Given the description of an element on the screen output the (x, y) to click on. 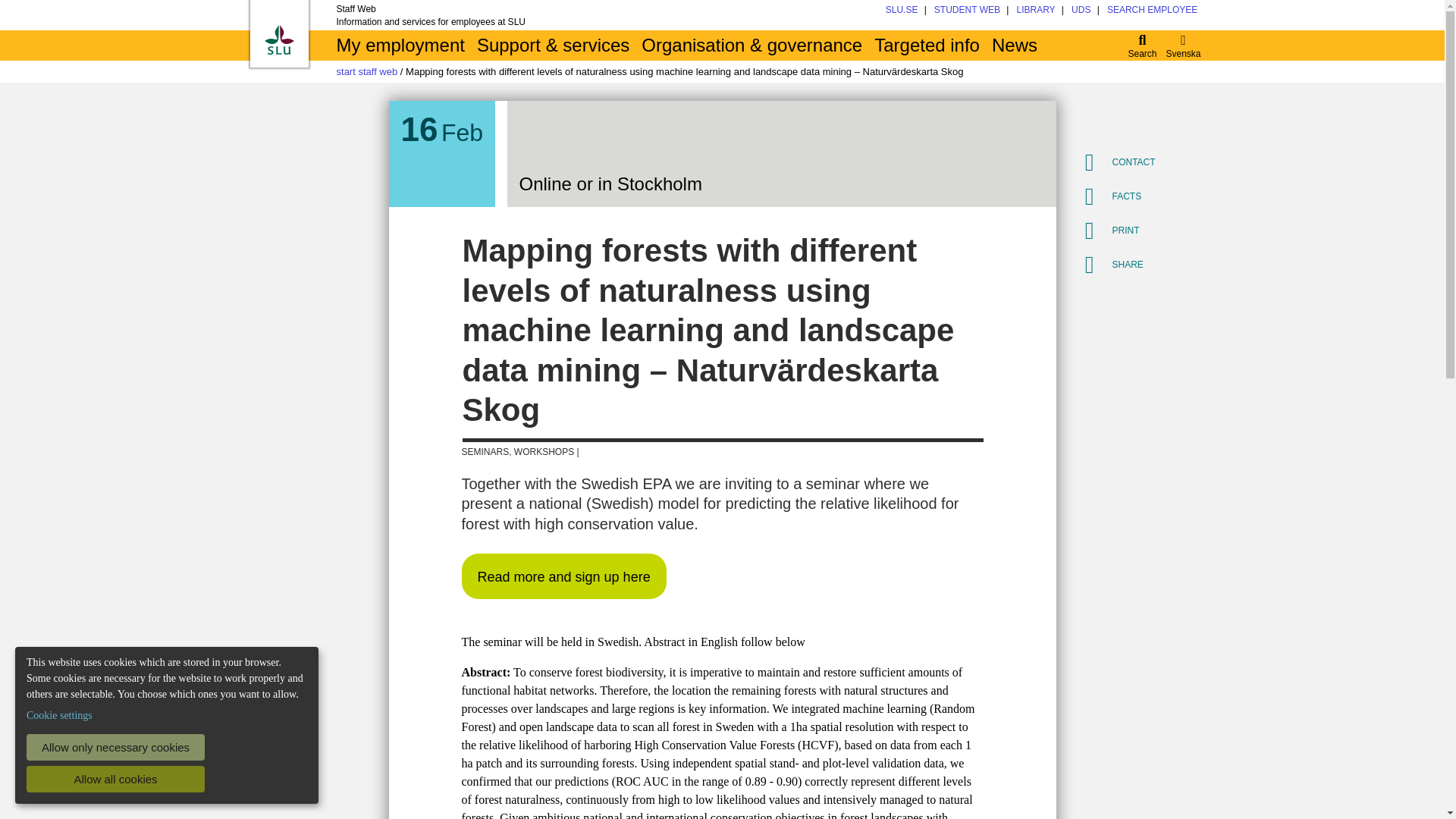
UDS (1080, 9)
Allow all cookies (115, 778)
Cookie settings (59, 715)
SEARCH EMPLOYEE (1151, 9)
SLU.SE (901, 9)
LIBRARY (1035, 9)
Search (1142, 45)
Swedish University of Agricultural Sciences logo (278, 39)
Allow only necessary cookies (115, 746)
Svenska (1183, 45)
STUDENT WEB (967, 9)
My employment (400, 45)
